Given the description of an element on the screen output the (x, y) to click on. 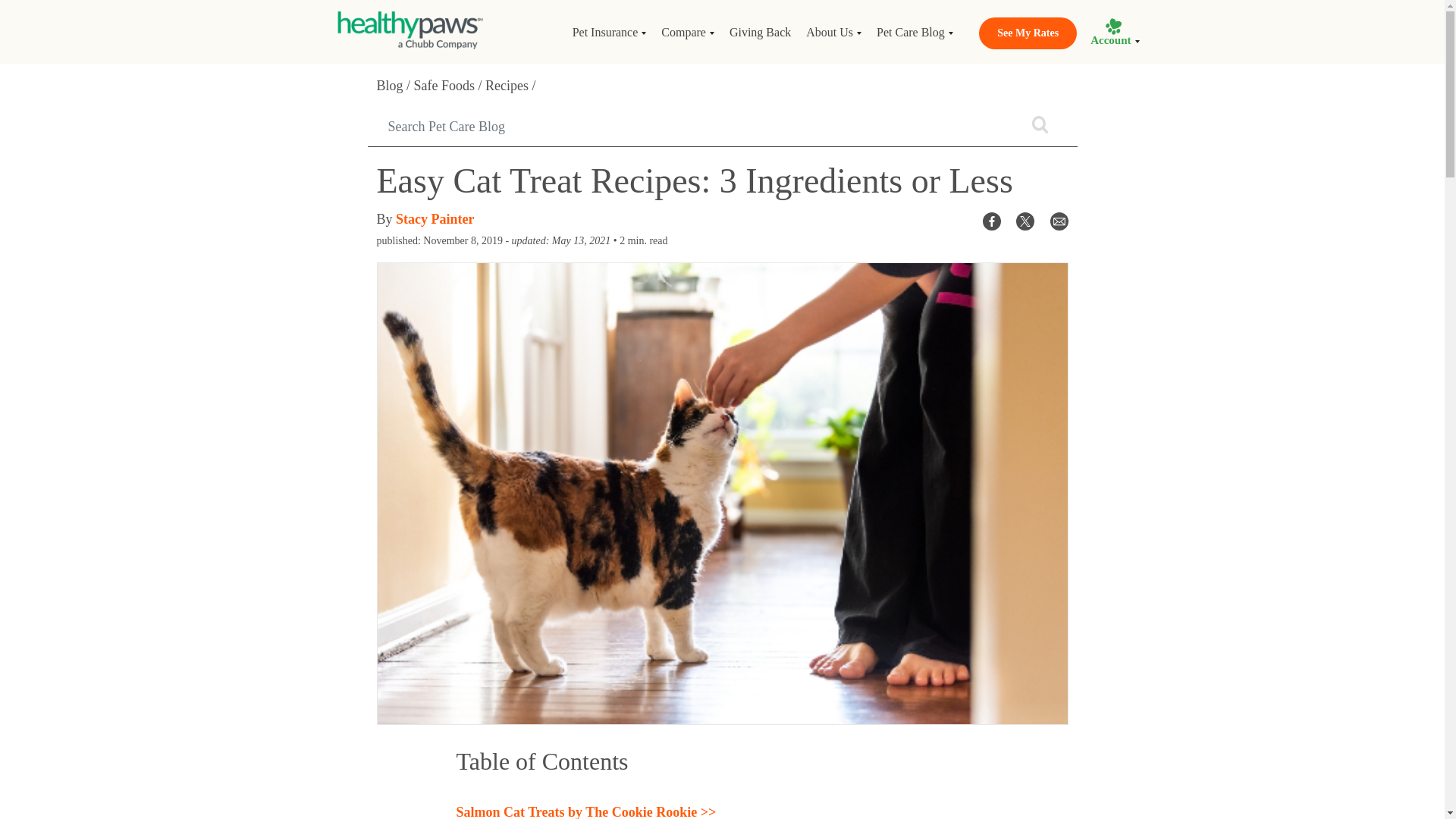
Share Post over Email (1058, 219)
About Us (833, 32)
Share Post on Twitter (1024, 219)
Pet Insurance (608, 32)
Salmon Cat Treats by The Cookie Rookie (586, 811)
Giving Back (759, 32)
Compare (687, 32)
